Given the description of an element on the screen output the (x, y) to click on. 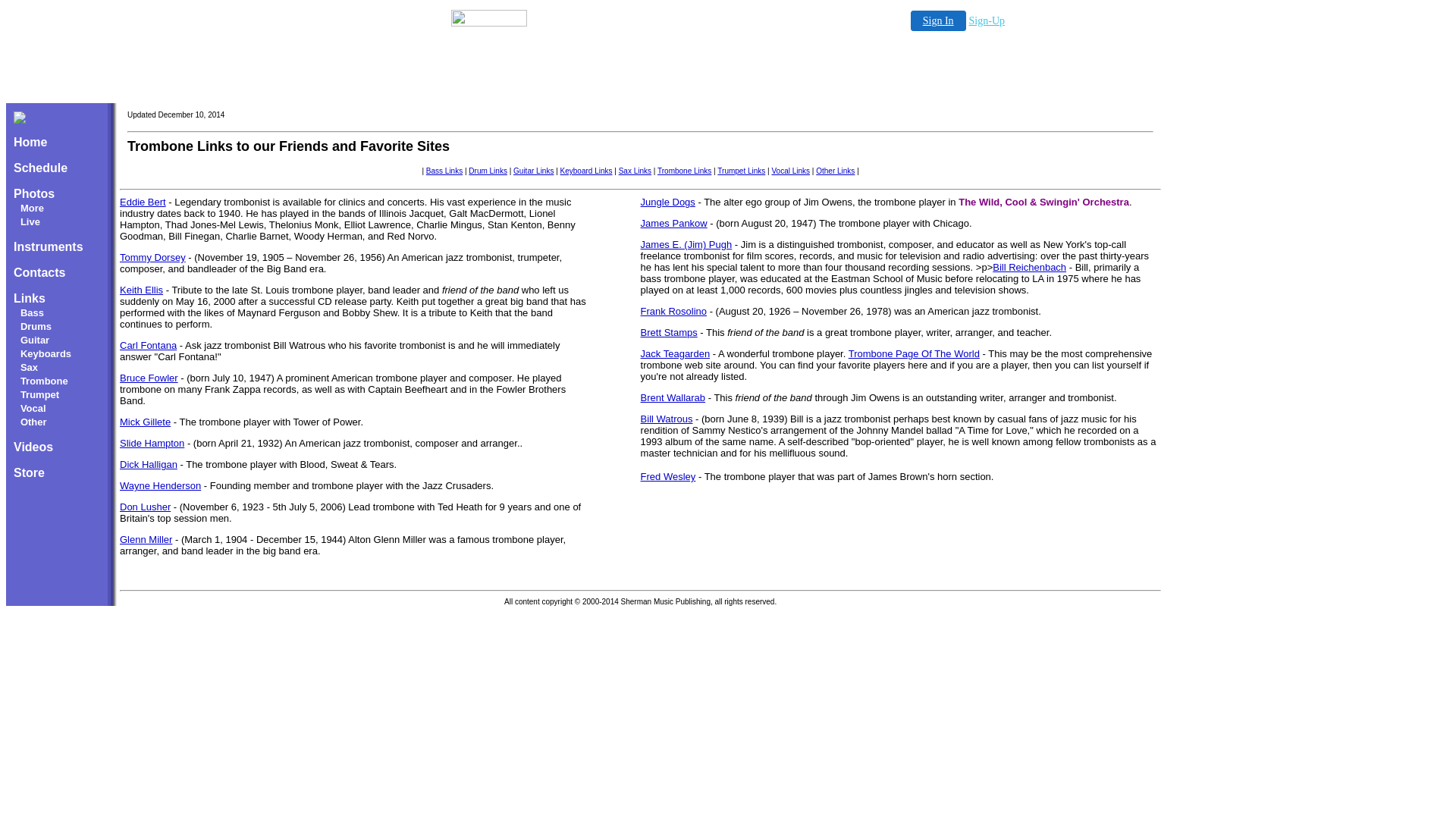
Keyboards Element type: text (45, 352)
Frank Rosolino Element type: text (673, 310)
James E. (Jim) Pugh Element type: text (686, 244)
Brett Stamps Element type: text (668, 332)
Mick Gillete Element type: text (144, 421)
Jungle Dogs Element type: text (667, 201)
Trombone Element type: text (44, 379)
Slide Hampton Element type: text (151, 442)
Trombone Page Of The World Element type: text (913, 353)
Bill Reichenbach Element type: text (1029, 267)
Other Links Element type: text (834, 170)
Instruments Element type: text (48, 246)
Drum Links Element type: text (487, 170)
Contacts Element type: text (39, 272)
Tommy Dorsey Element type: text (152, 257)
Sign In Element type: text (938, 20)
Dick Halligan Element type: text (148, 464)
Bruce Fowler Element type: text (148, 377)
Trumpet Links Element type: text (741, 170)
Vocal Links Element type: text (790, 170)
Bass Links Element type: text (444, 170)
Trumpet Element type: text (39, 393)
Trombone Links Element type: text (684, 170)
James Pankow Element type: text (673, 223)
Keyboard Links Element type: text (586, 170)
Fred Wesley Element type: text (668, 476)
Home Element type: text (30, 141)
Wayne Henderson Element type: text (159, 485)
Schedule Element type: text (40, 167)
Vocal Element type: text (33, 407)
Videos Element type: text (33, 446)
Bill Watrous Element type: text (666, 418)
Drums Element type: text (35, 325)
Photos Element type: text (33, 193)
Sign-Up Element type: text (986, 20)
Glenn Miller Element type: text (145, 539)
Carl Fontana Element type: text (147, 345)
Live Element type: text (30, 220)
Sax Links Element type: text (634, 170)
Brent Wallarab Element type: text (673, 397)
Keith Ellis Element type: text (141, 289)
Jack Teagarden Element type: text (675, 353)
More Element type: text (31, 206)
Store Element type: text (28, 472)
Guitar Links Element type: text (533, 170)
Don Lusher Element type: text (144, 506)
Other Element type: text (33, 420)
Bass Element type: text (31, 311)
Guitar Element type: text (34, 338)
Sax Element type: text (28, 366)
Eddie Bert Element type: text (142, 201)
